Given the description of an element on the screen output the (x, y) to click on. 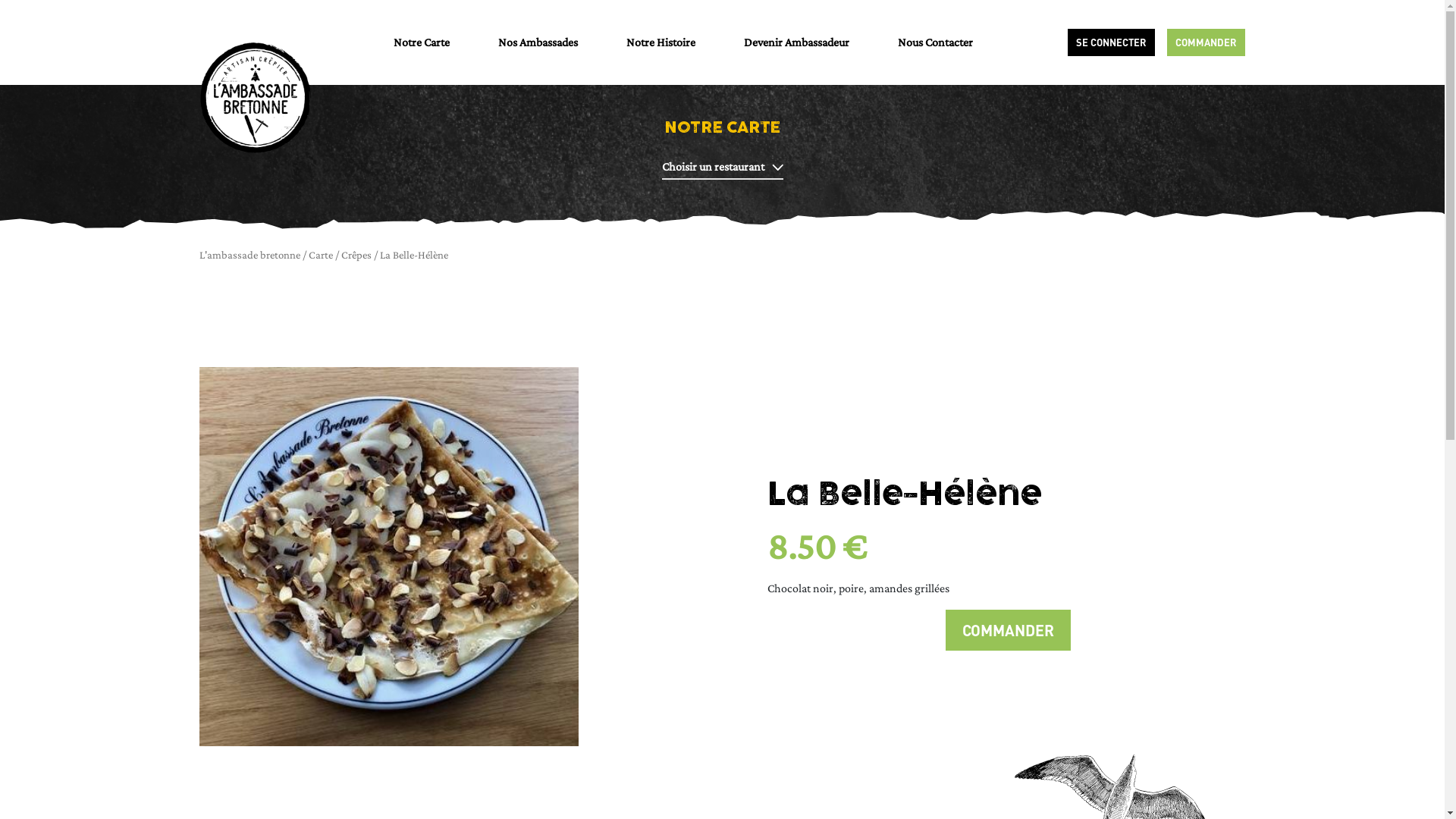
Nous Contacter Element type: text (934, 41)
COMMANDER Element type: text (1007, 629)
Notre Carte Element type: text (420, 41)
crepe-bretonne-belle-helene Element type: hover (387, 556)
Nos Ambassades Element type: text (537, 41)
Carte Element type: text (319, 254)
L'ambassade bretonne Element type: text (248, 254)
Notre Histoire Element type: text (660, 41)
Devenir Ambassadeur Element type: text (795, 41)
SE CONNECTER Element type: text (1110, 42)
COMMANDER Element type: text (1205, 42)
